Given the description of an element on the screen output the (x, y) to click on. 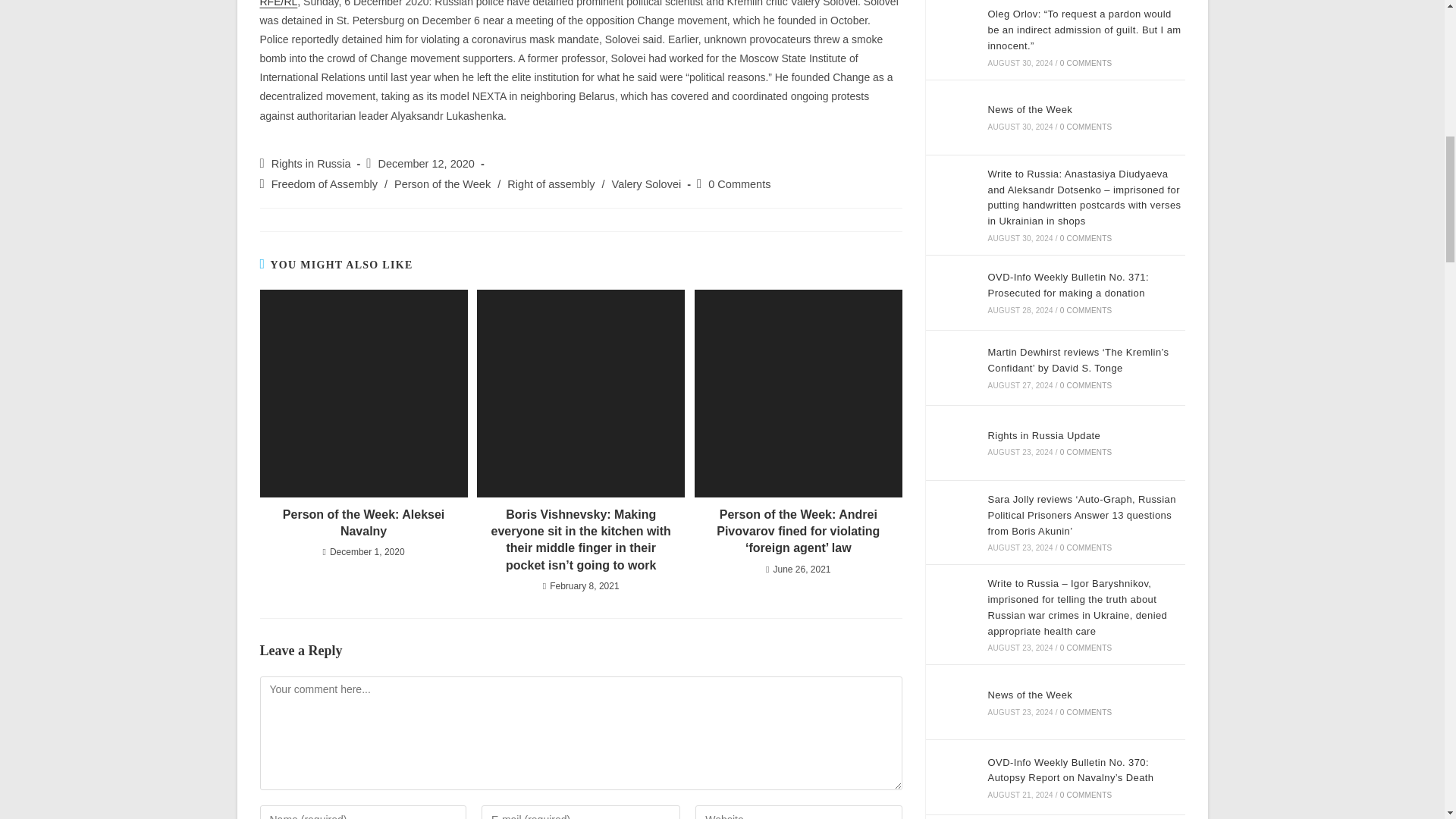
Posts by Rights in Russia (310, 163)
Person of the Week (442, 184)
Rights in Russia Update (951, 442)
Freedom of Assembly (323, 184)
Valery Solovei (646, 184)
Person of the Week: Aleksei Navalny (362, 523)
0 Comments (738, 184)
Right of assembly (550, 184)
Rights in Russia (310, 163)
